Given the description of an element on the screen output the (x, y) to click on. 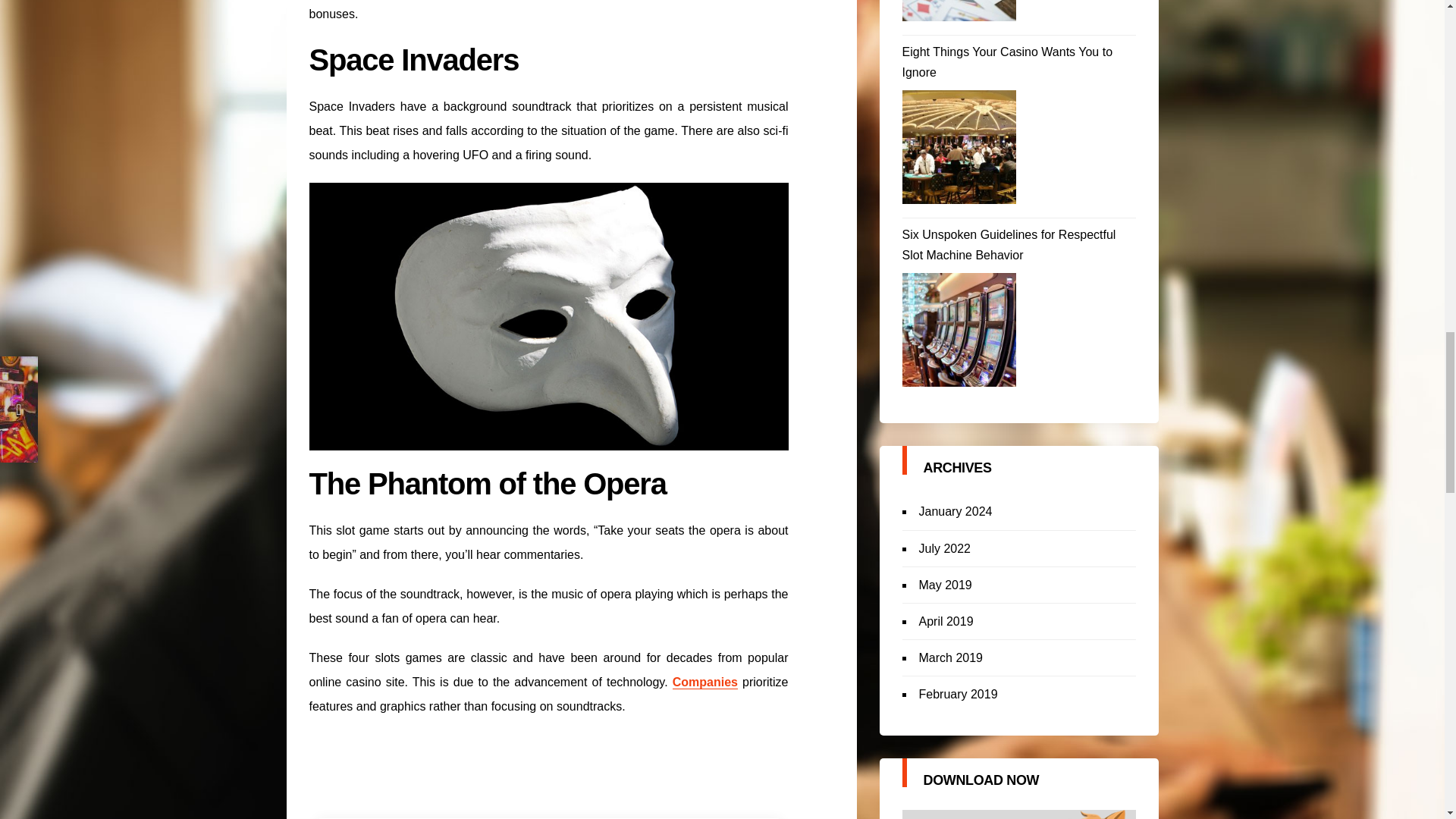
Companies (705, 682)
10 Gambling Money-Making Strategies (959, 10)
